Given the description of an element on the screen output the (x, y) to click on. 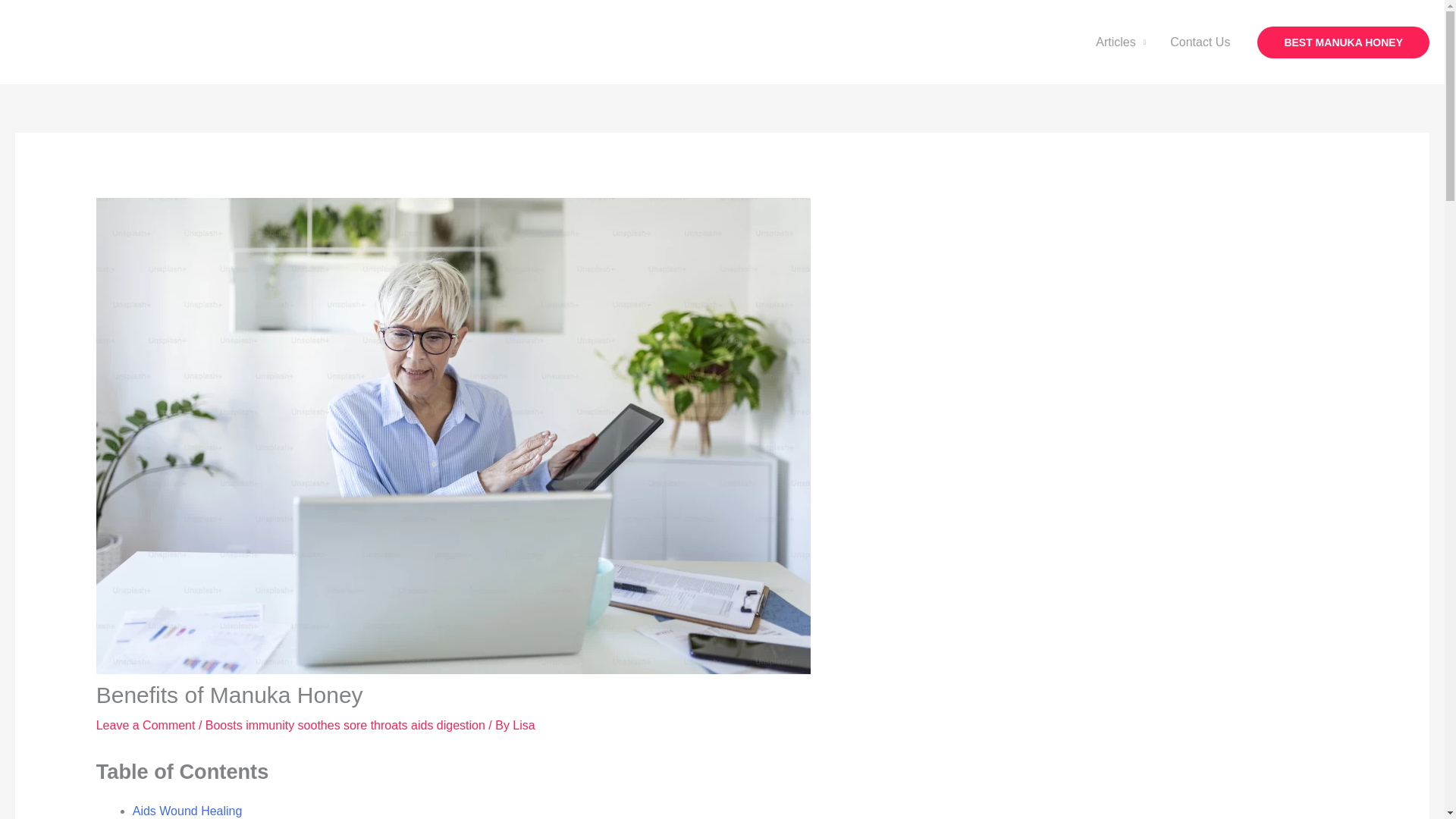
Boosts immunity soothes sore throats aids digestion (344, 725)
Leave a Comment (145, 725)
Contact Us (1199, 41)
BEST MANUKA HONEY (1343, 42)
Lisa (523, 725)
Articles (1120, 41)
View all posts by Lisa (523, 725)
Aids Wound Healing (187, 810)
